Given the description of an element on the screen output the (x, y) to click on. 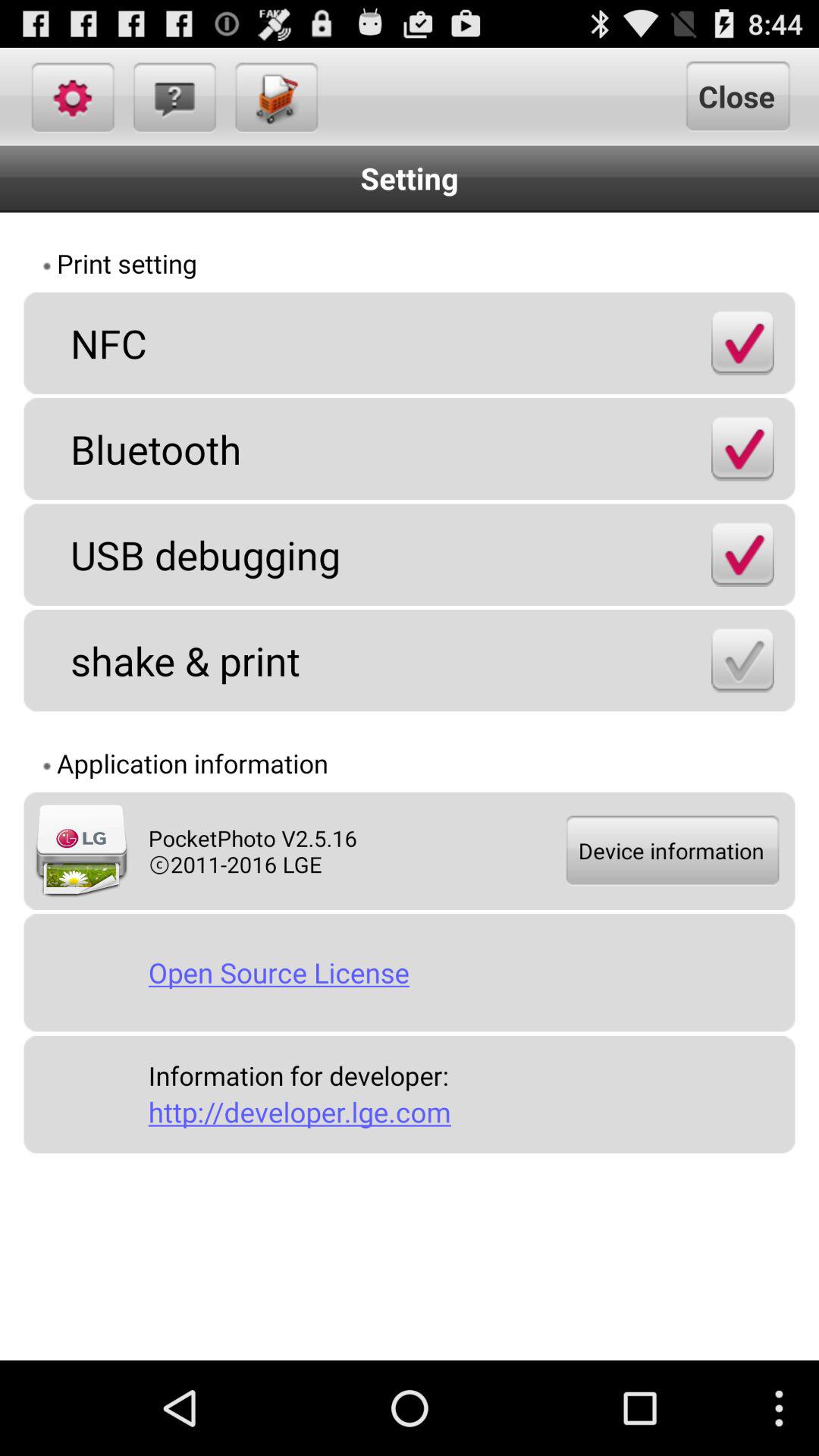
launch icon above the information for developer: app (466, 972)
